Given the description of an element on the screen output the (x, y) to click on. 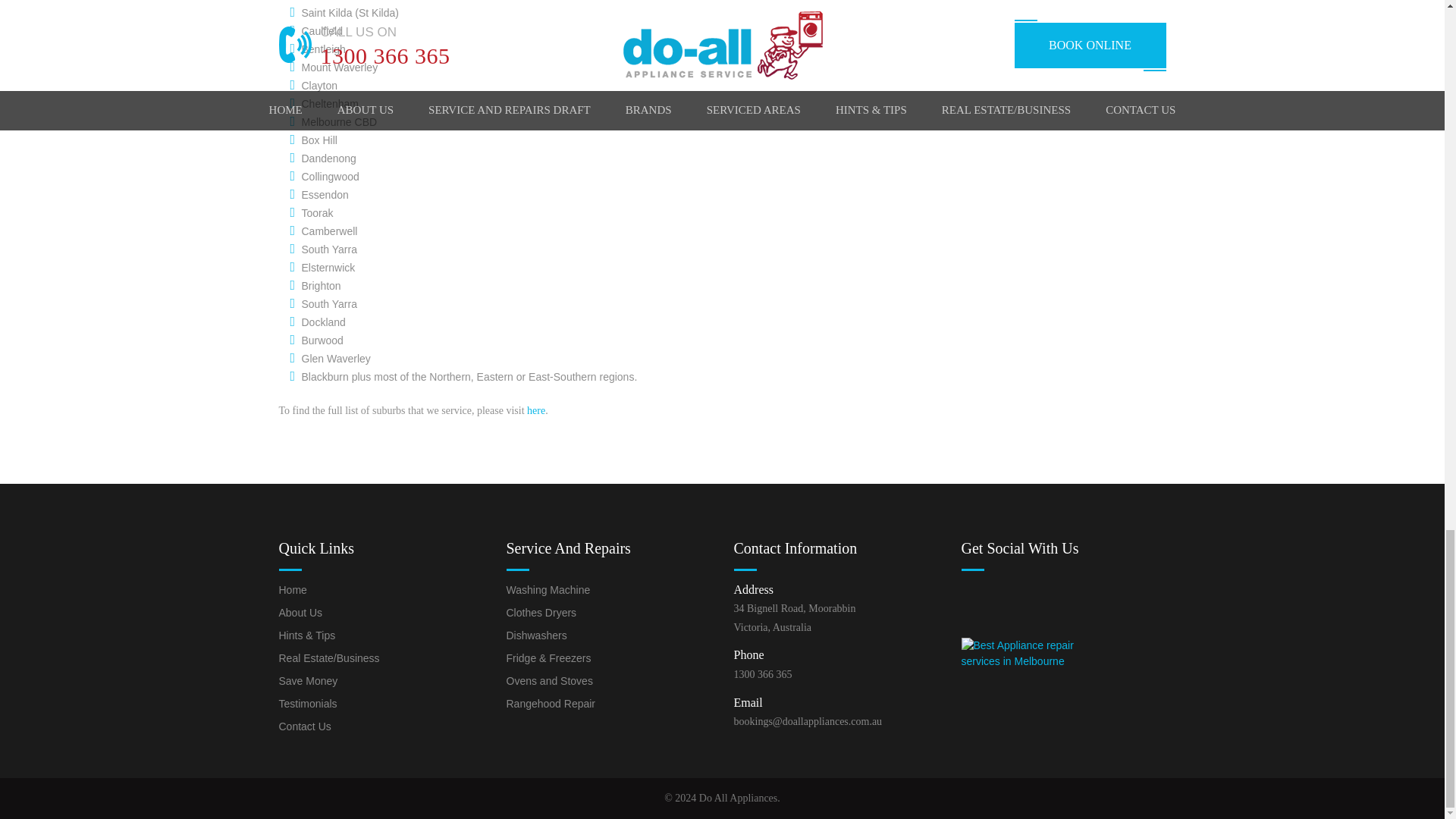
here (535, 410)
